Given the description of an element on the screen output the (x, y) to click on. 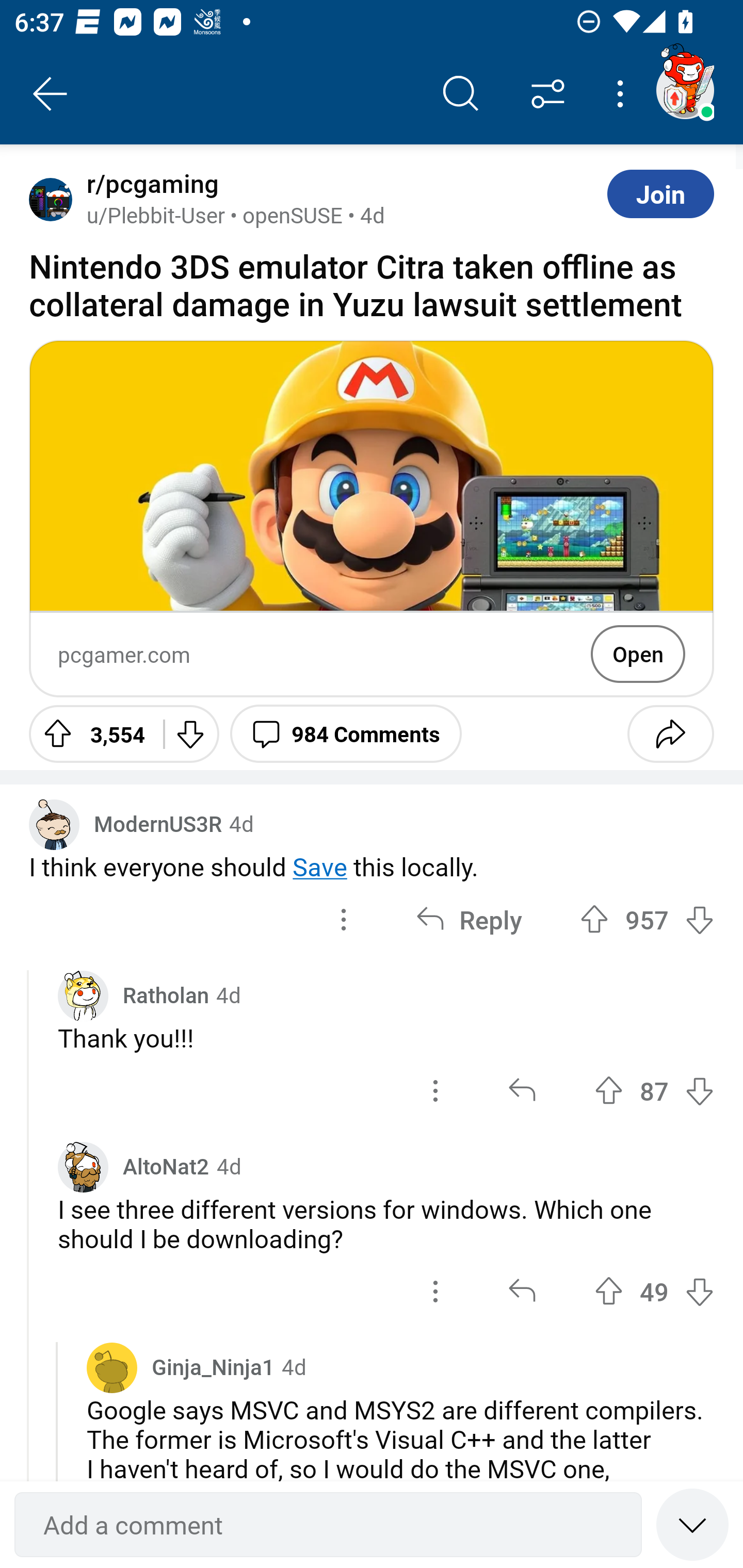
Back (50, 93)
TestAppium002 account (685, 90)
Search comments (460, 93)
Sort comments (547, 93)
More options (623, 93)
r/pcgaming (148, 183)
Join (660, 193)
Avatar (50, 199)
Preview Image pcgamer.com Open (371, 518)
Open (637, 654)
Upvote 3,554 (88, 733)
Downvote (189, 733)
984 Comments (346, 733)
Share (670, 733)
Custom avatar (53, 824)
I think everyone should Save this locally. (371, 865)
options (343, 919)
Reply (469, 919)
Upvote 957 957 votes Downvote (647, 919)
Custom avatar (82, 995)
Thank you!!! (385, 1037)
options (435, 1091)
Upvote 87 87 votes Downvote (654, 1091)
Custom avatar (82, 1166)
options (435, 1291)
Upvote 49 49 votes Downvote (654, 1291)
Avatar (111, 1367)
Speed read (692, 1524)
Add a comment (327, 1524)
